Given the description of an element on the screen output the (x, y) to click on. 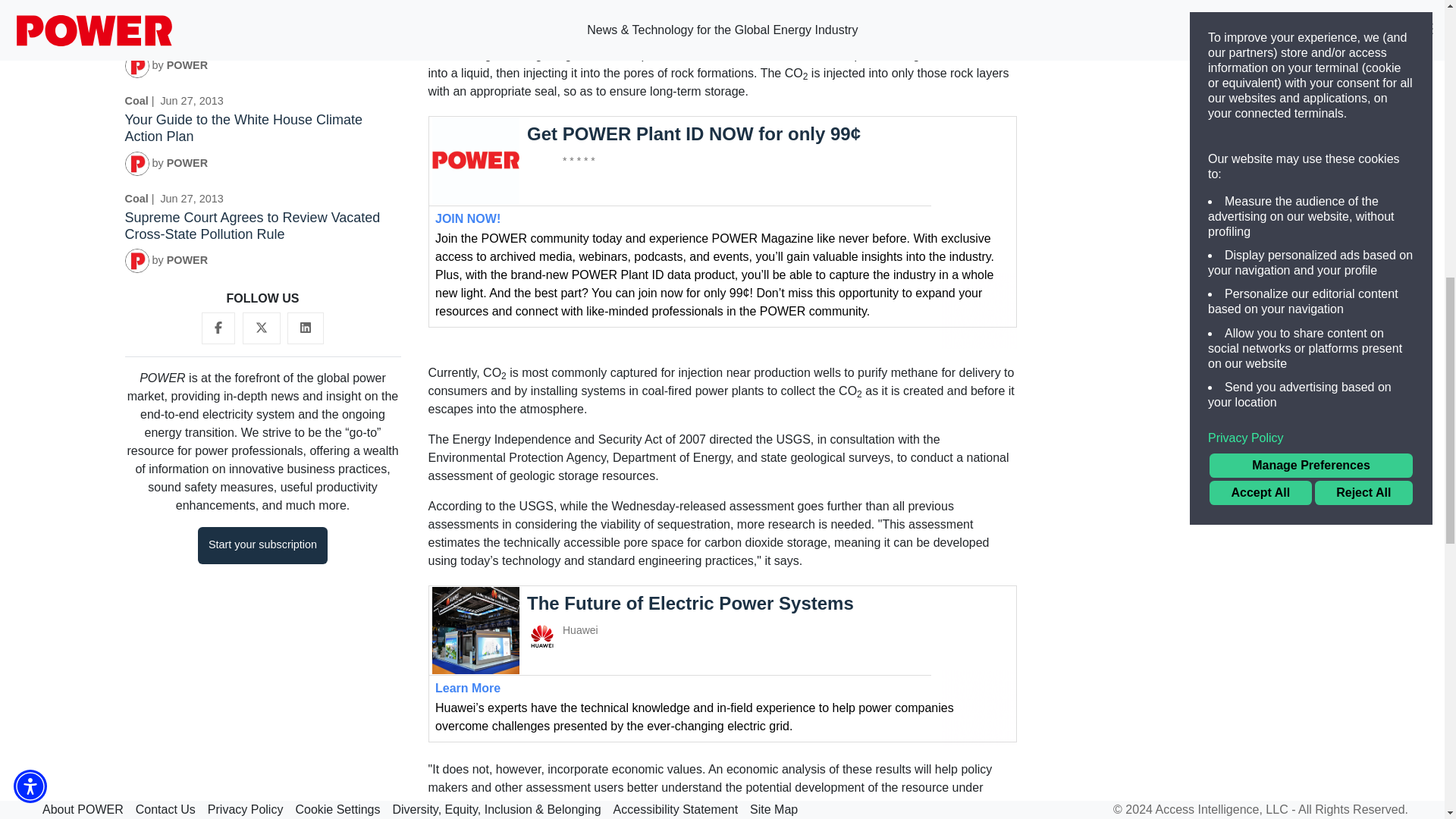
3rd party ad content (722, 665)
3rd party ad content (1181, 736)
3rd party ad content (1181, 298)
